Given the description of an element on the screen output the (x, y) to click on. 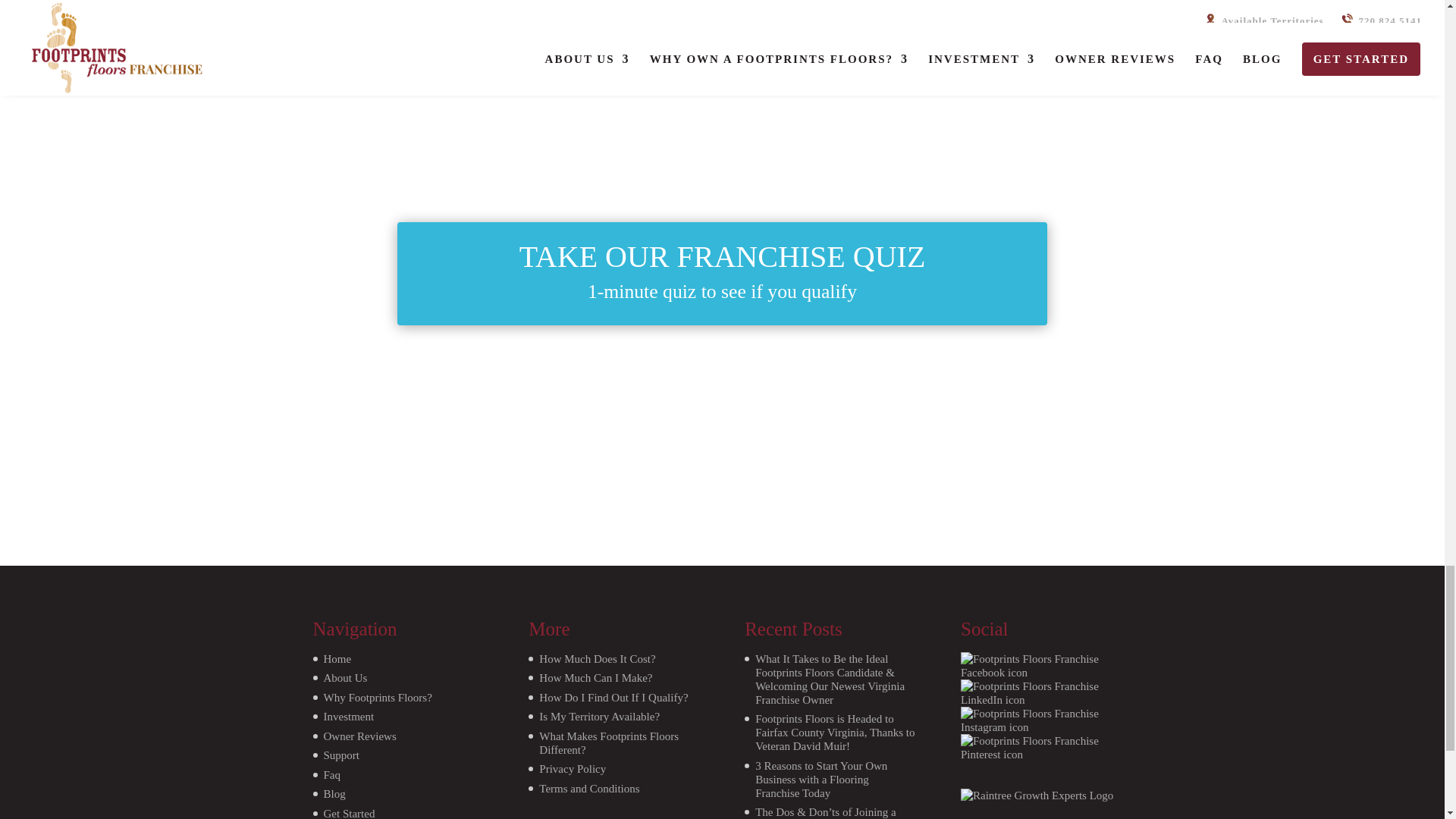
How Much Can I Make? (613, 677)
Investment (371, 716)
Get Started (371, 812)
Privacy Policy (613, 768)
Owner Reviews (371, 735)
Faq (371, 775)
Terms and Conditions (613, 788)
Support (371, 755)
Blog (371, 793)
About Us (371, 677)
What Makes Footprints Floors Different? (613, 742)
Home (371, 658)
Why Footprints Floors? (371, 697)
Is My Territory Available? (613, 716)
How Do I Find Out If I Qualify? (613, 697)
